Given the description of an element on the screen output the (x, y) to click on. 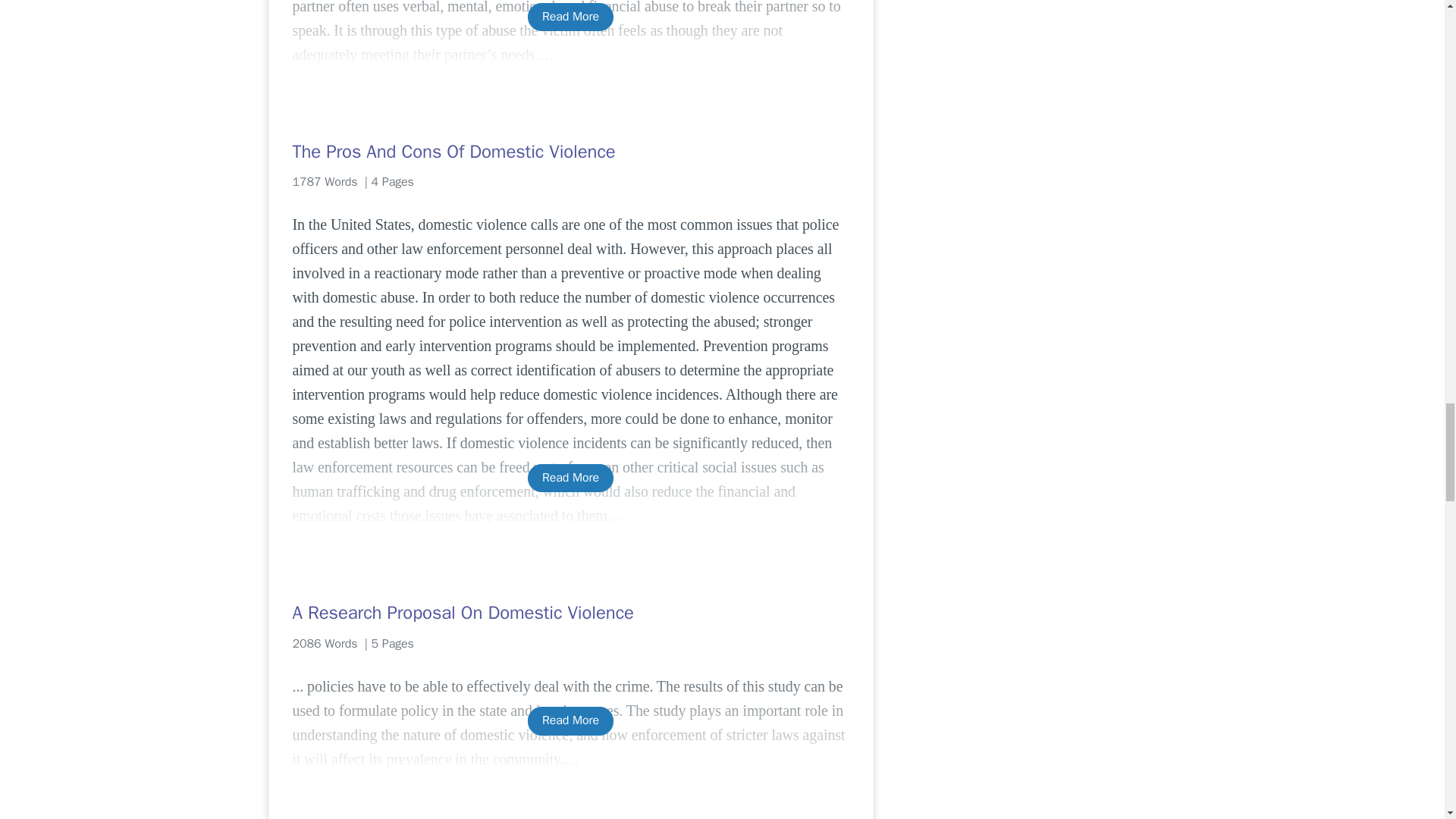
The Pros And Cons Of Domestic Violence (570, 151)
Read More (569, 17)
A Research Proposal On Domestic Violence (570, 612)
Read More (569, 478)
Read More (569, 720)
